Given the description of an element on the screen output the (x, y) to click on. 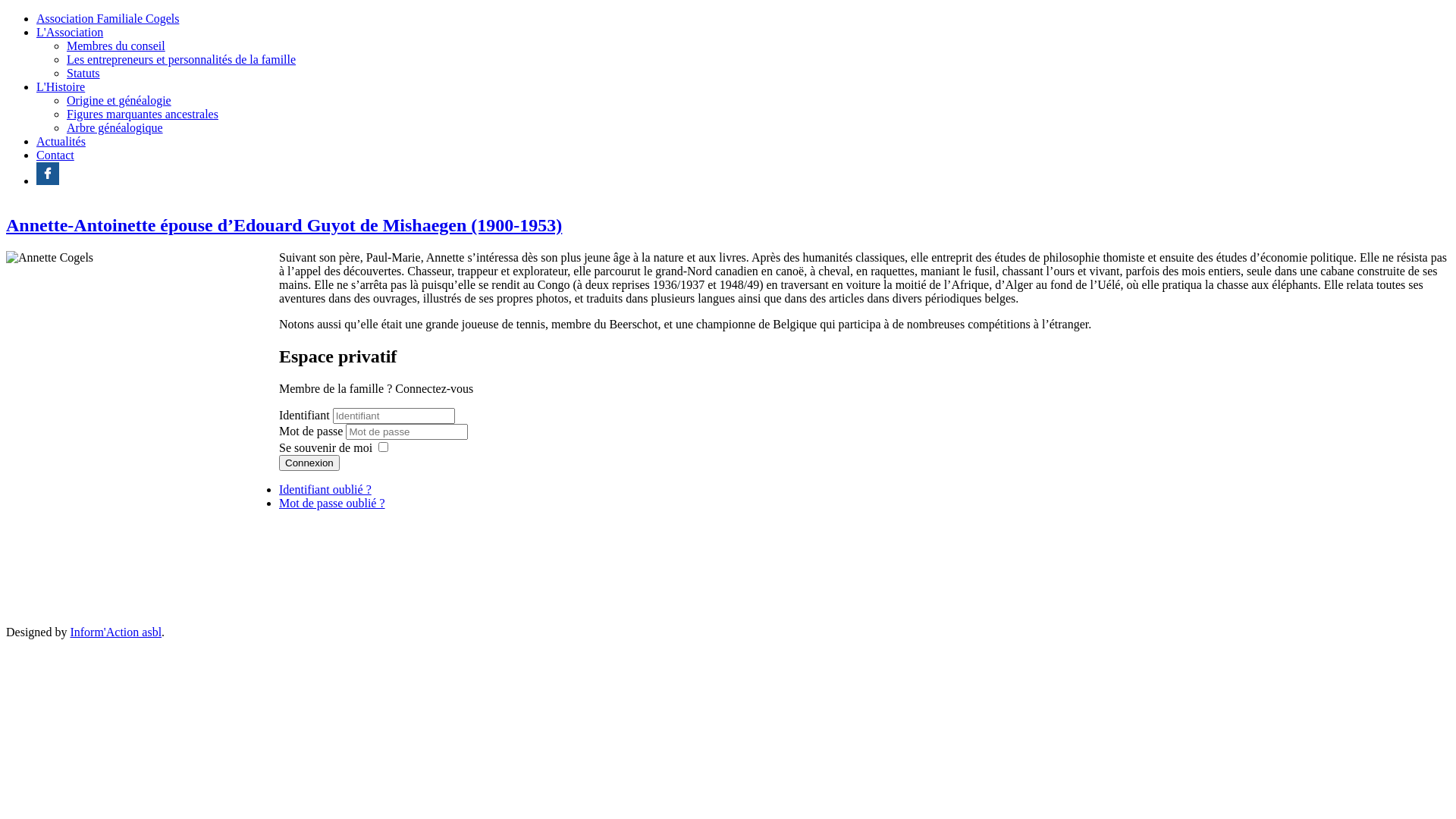
Association Familiale Cogels Element type: text (107, 18)
Statuts Element type: text (83, 72)
Membres du conseil Element type: text (115, 45)
Inform'Action asbl Element type: text (115, 631)
L'Histoire Element type: text (60, 86)
Connexion Element type: text (309, 462)
Contact Element type: text (55, 154)
Figures marquantes ancestrales Element type: text (142, 113)
L'Association Element type: text (69, 31)
